Given the description of an element on the screen output the (x, y) to click on. 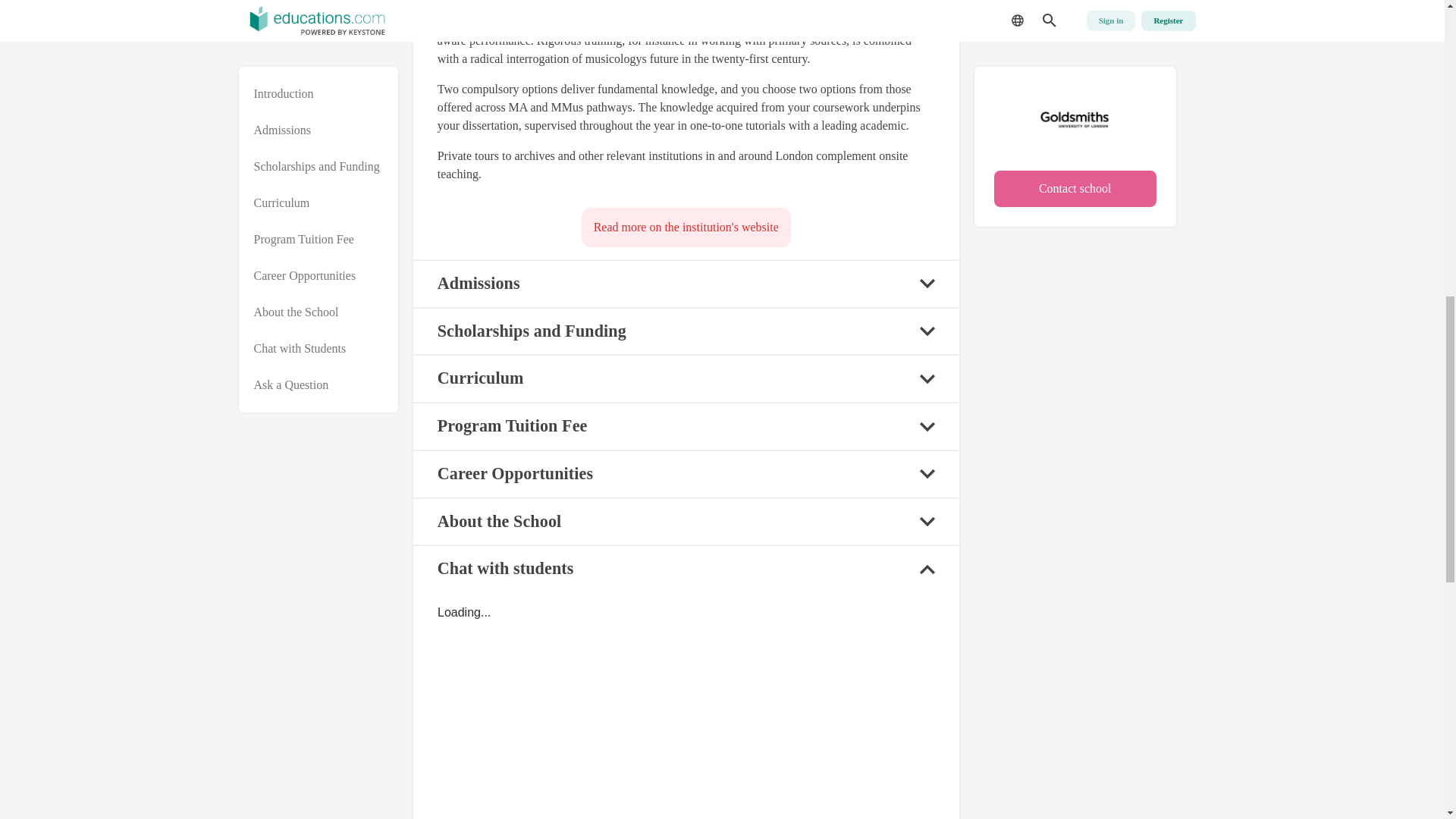
Unibuddy (686, 711)
Read more on the institution's website (685, 227)
